Given the description of an element on the screen output the (x, y) to click on. 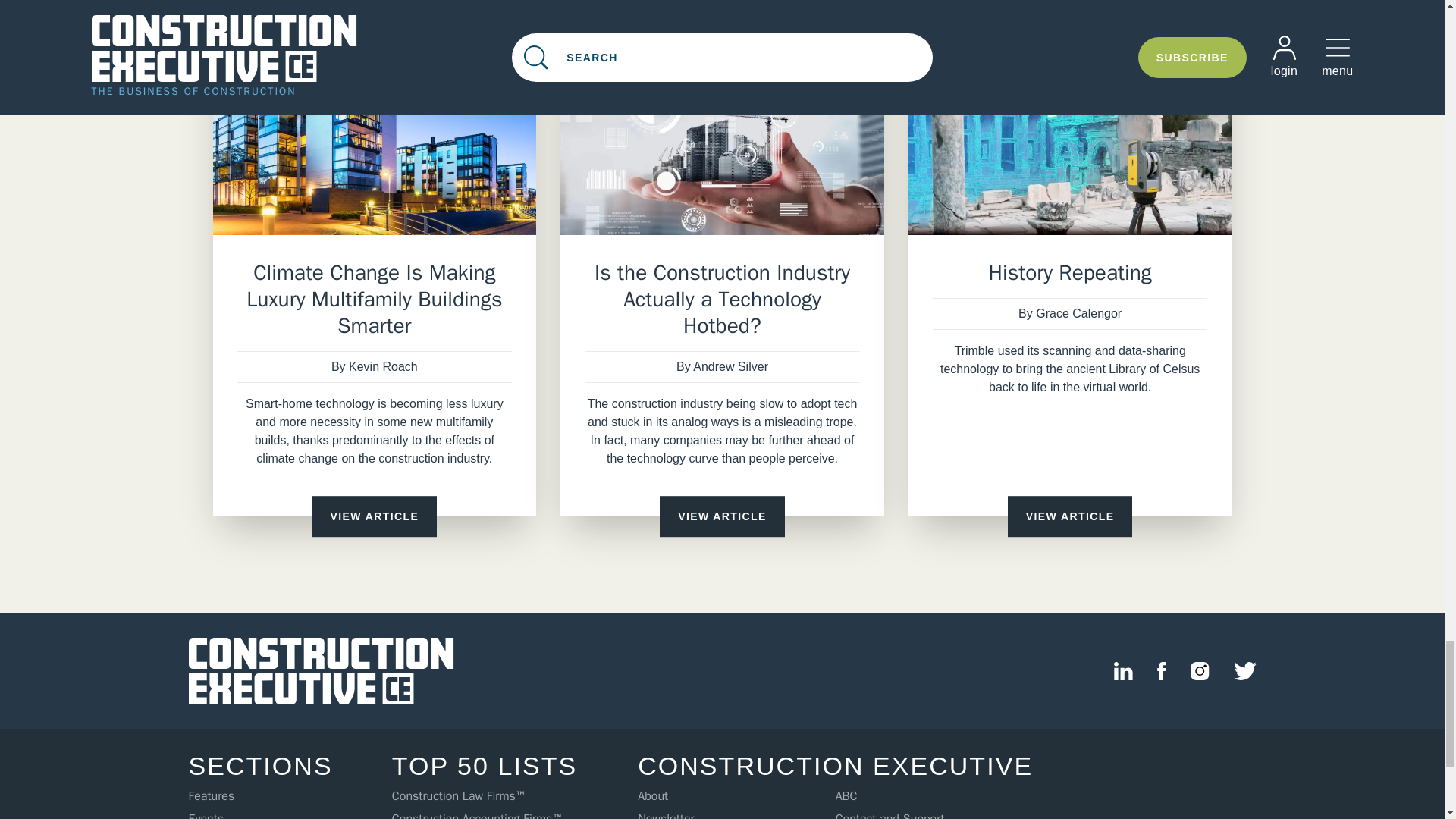
VIEW ARTICLE (1069, 516)
VIEW ARTICLE (375, 516)
VIEW ARTICLE (721, 516)
